Given the description of an element on the screen output the (x, y) to click on. 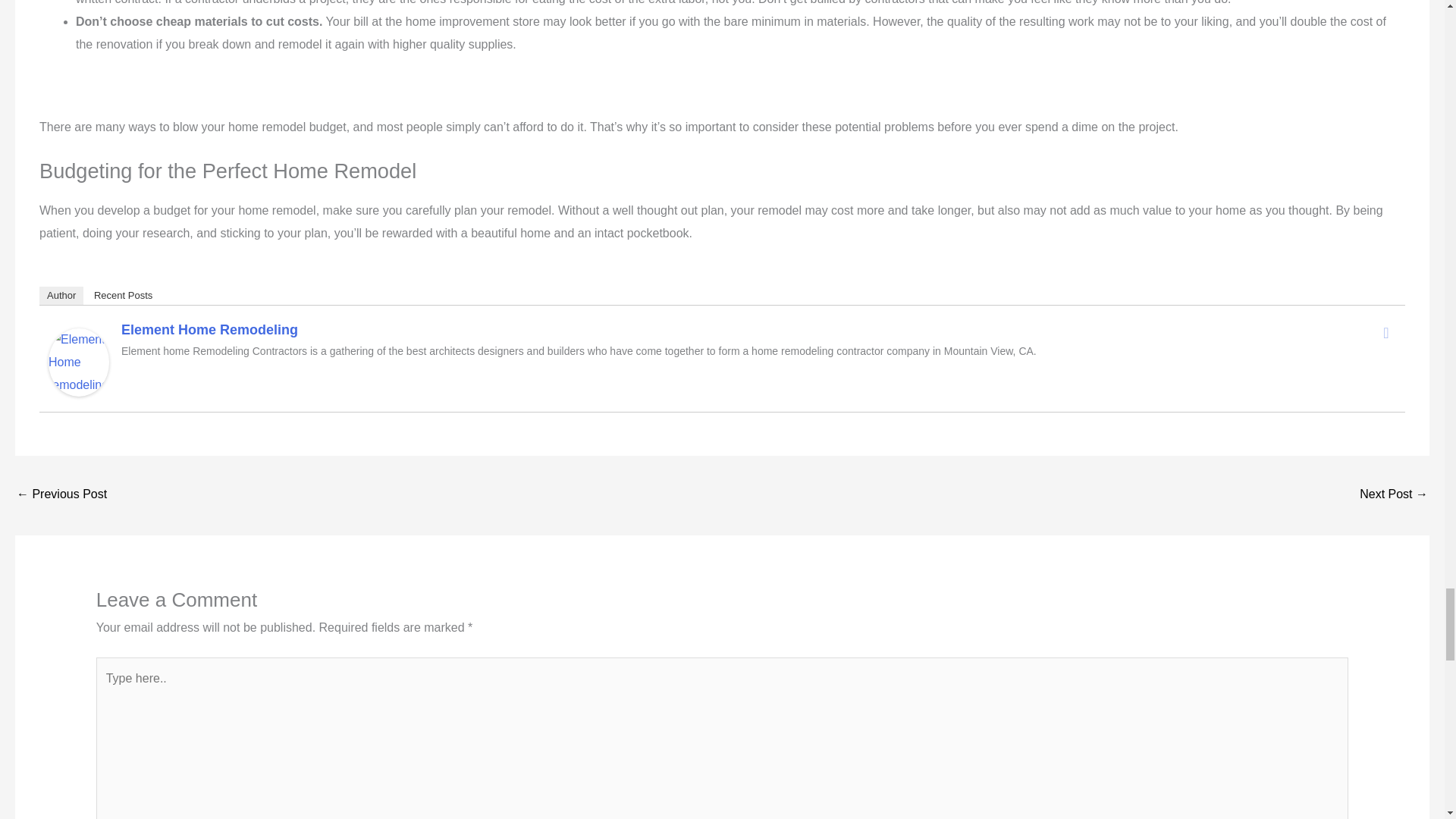
Element Home remodeling (78, 360)
How Long Does a Kitchen Renovation Take? (61, 495)
These Are The 10 Steps To A Great Home Remodel Plan (1393, 495)
Element Home Remodeling (209, 329)
Author (60, 295)
Facebook (1385, 332)
Recent Posts (122, 295)
